Given the description of an element on the screen output the (x, y) to click on. 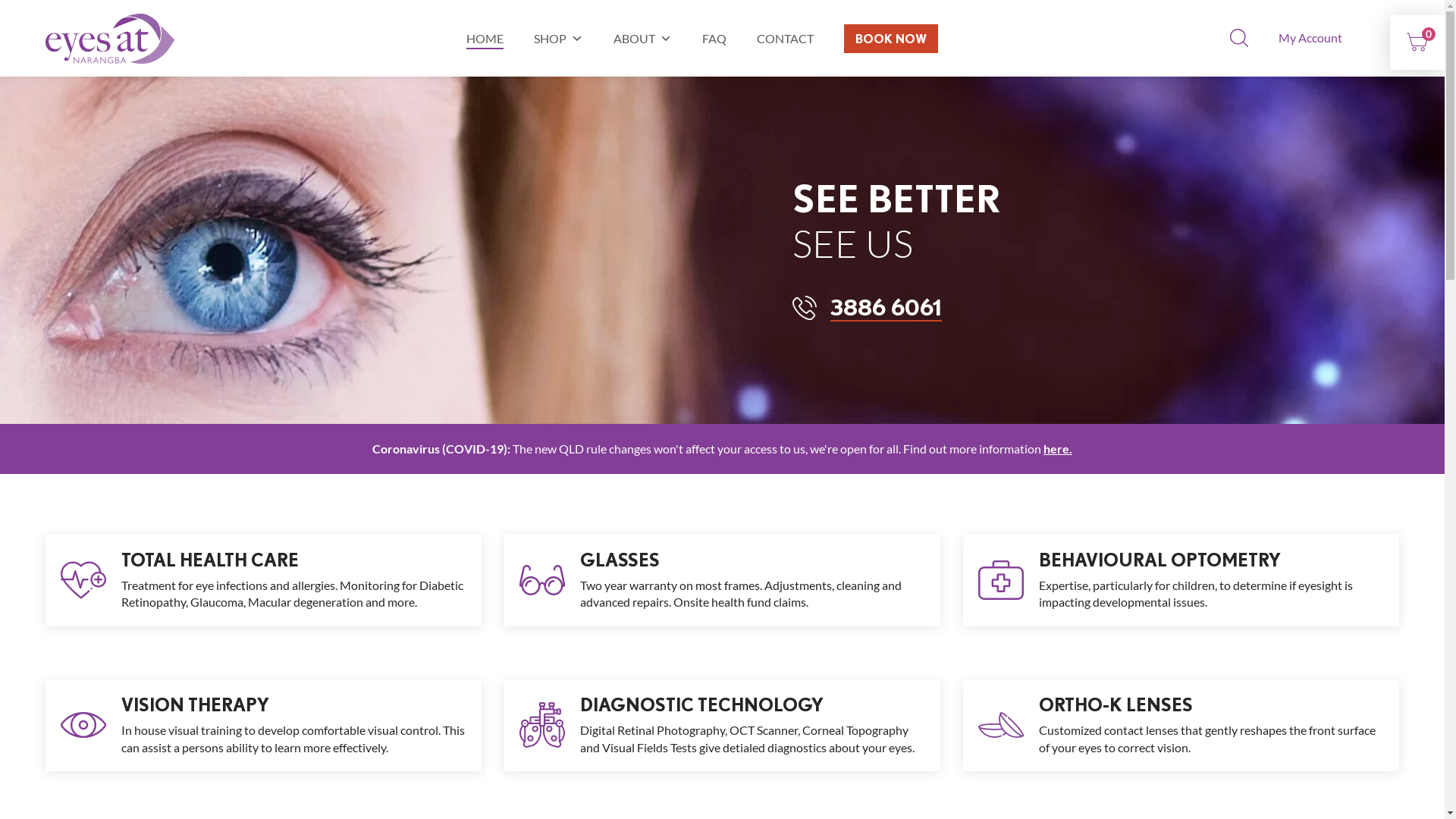
SHOP Element type: text (558, 37)
Eyesat Element type: hover (109, 38)
My Account Element type: text (1310, 37)
here. Element type: text (1057, 448)
FAQ Element type: text (714, 37)
0 Element type: text (1417, 42)
BOOK NOW Element type: text (891, 38)
ABOUT Element type: text (642, 37)
CONTACT Element type: text (784, 37)
3886 6061 Element type: text (866, 306)
HOME Element type: text (484, 37)
